Given the description of an element on the screen output the (x, y) to click on. 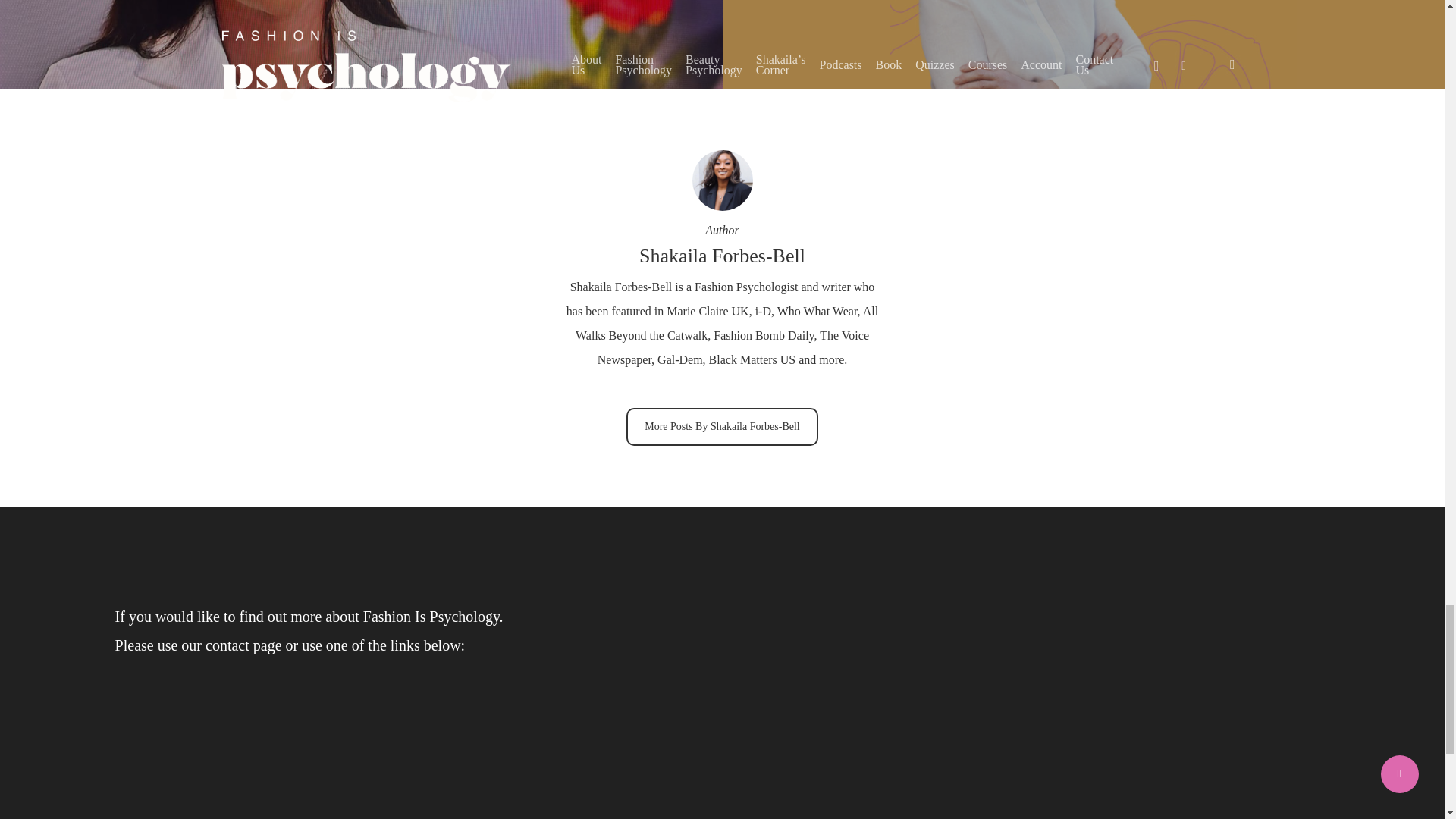
More Posts By Shakaila Forbes-Bell (722, 426)
SUBSCRIBE (1002, 751)
